Given the description of an element on the screen output the (x, y) to click on. 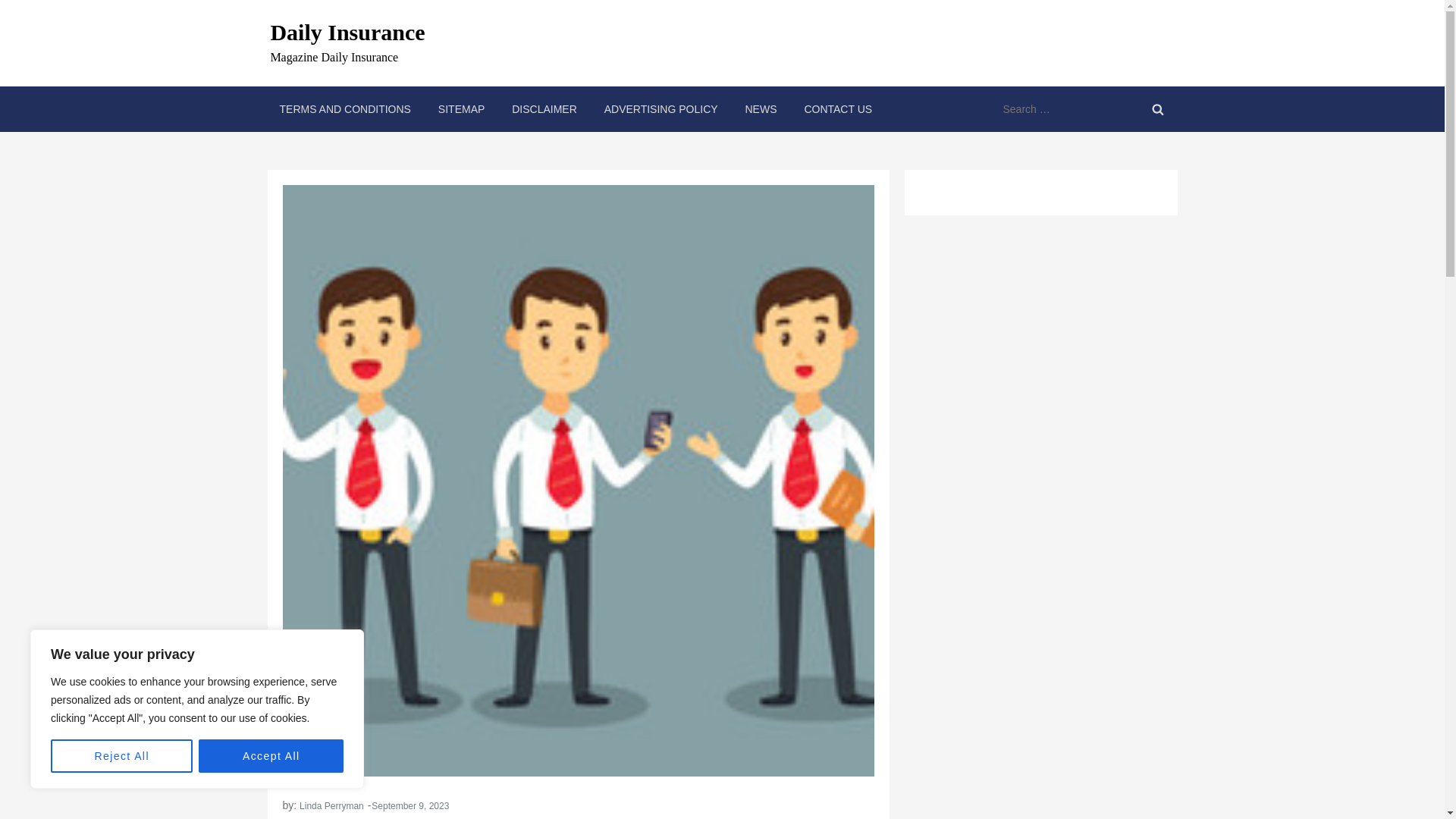
SITEMAP (461, 108)
CONTACT US (837, 108)
TERMS AND CONDITIONS (344, 108)
Linda Perryman (331, 805)
Accept All (270, 756)
Daily Insurance (347, 32)
NEWS (760, 108)
ADVERTISING POLICY (661, 108)
Reject All (121, 756)
DISCLAIMER (544, 108)
September 9, 2023 (409, 805)
